Given the description of an element on the screen output the (x, y) to click on. 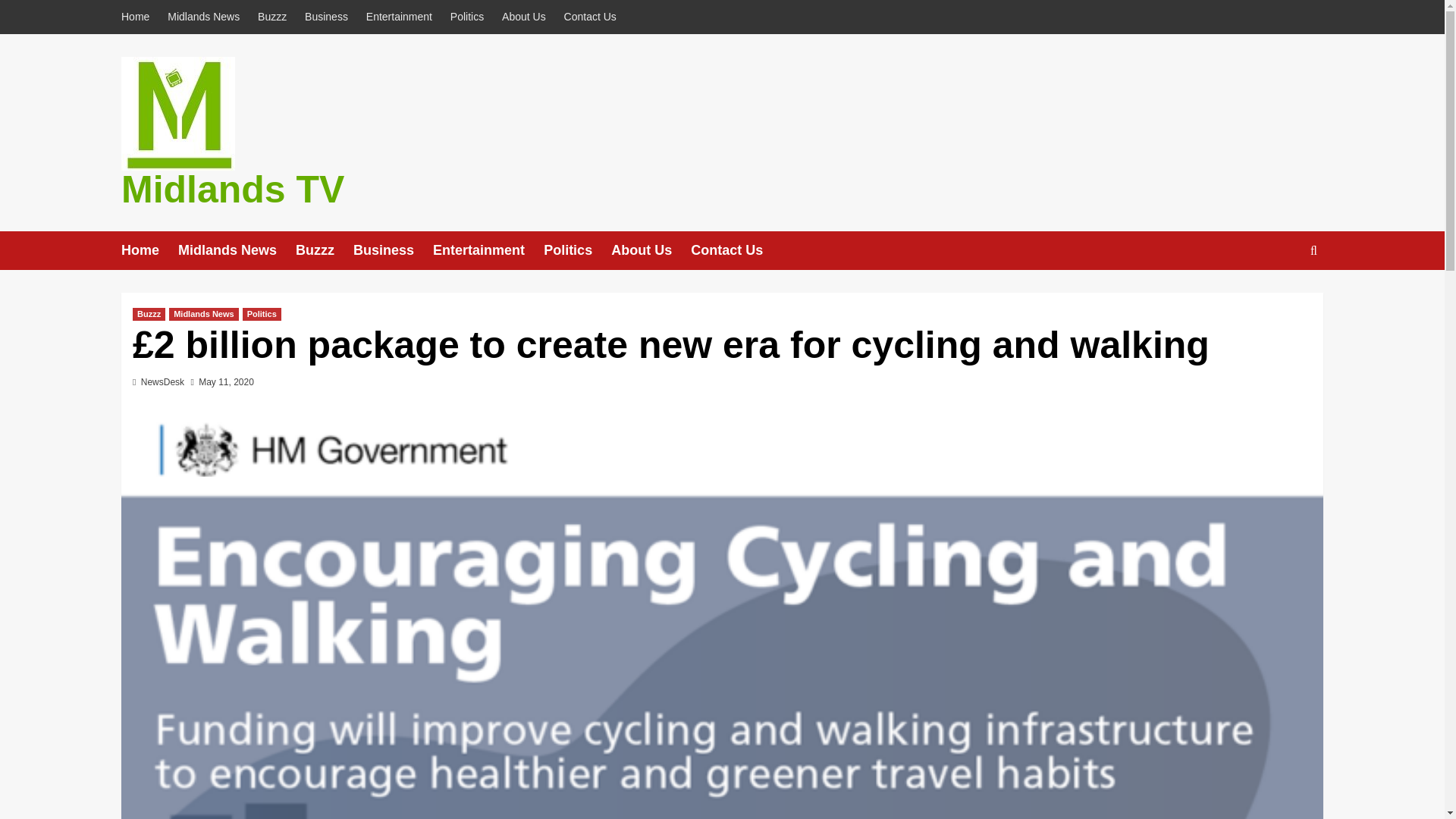
Contact Us (590, 17)
Midlands TV (231, 189)
Search (1278, 297)
Buzzz (148, 314)
Business (326, 17)
Politics (467, 17)
Midlands News (203, 17)
Entertainment (398, 17)
Buzzz (324, 250)
Politics (577, 250)
